Given the description of an element on the screen output the (x, y) to click on. 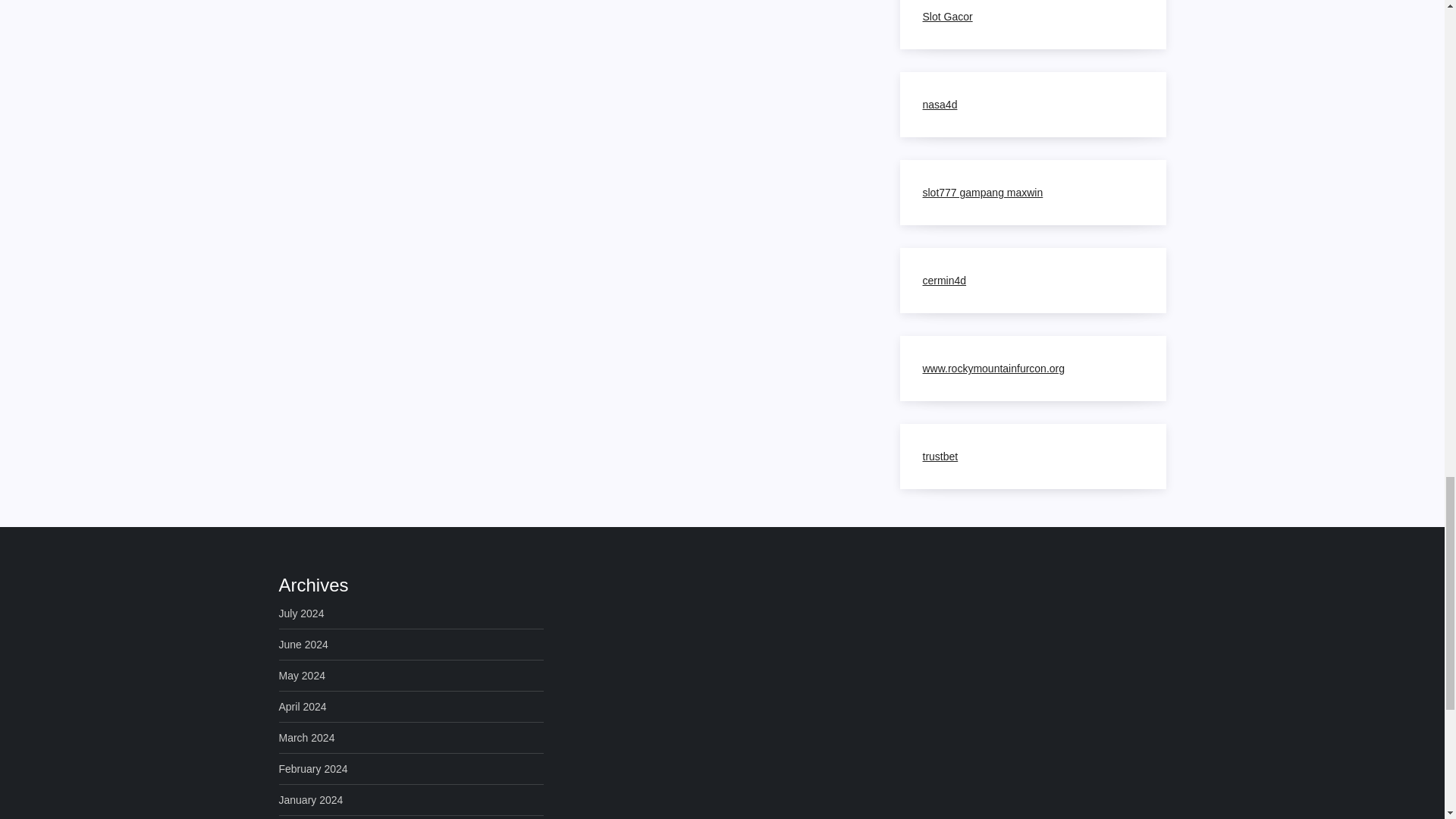
Slot Gacor (946, 16)
nasa4d (938, 104)
